Given the description of an element on the screen output the (x, y) to click on. 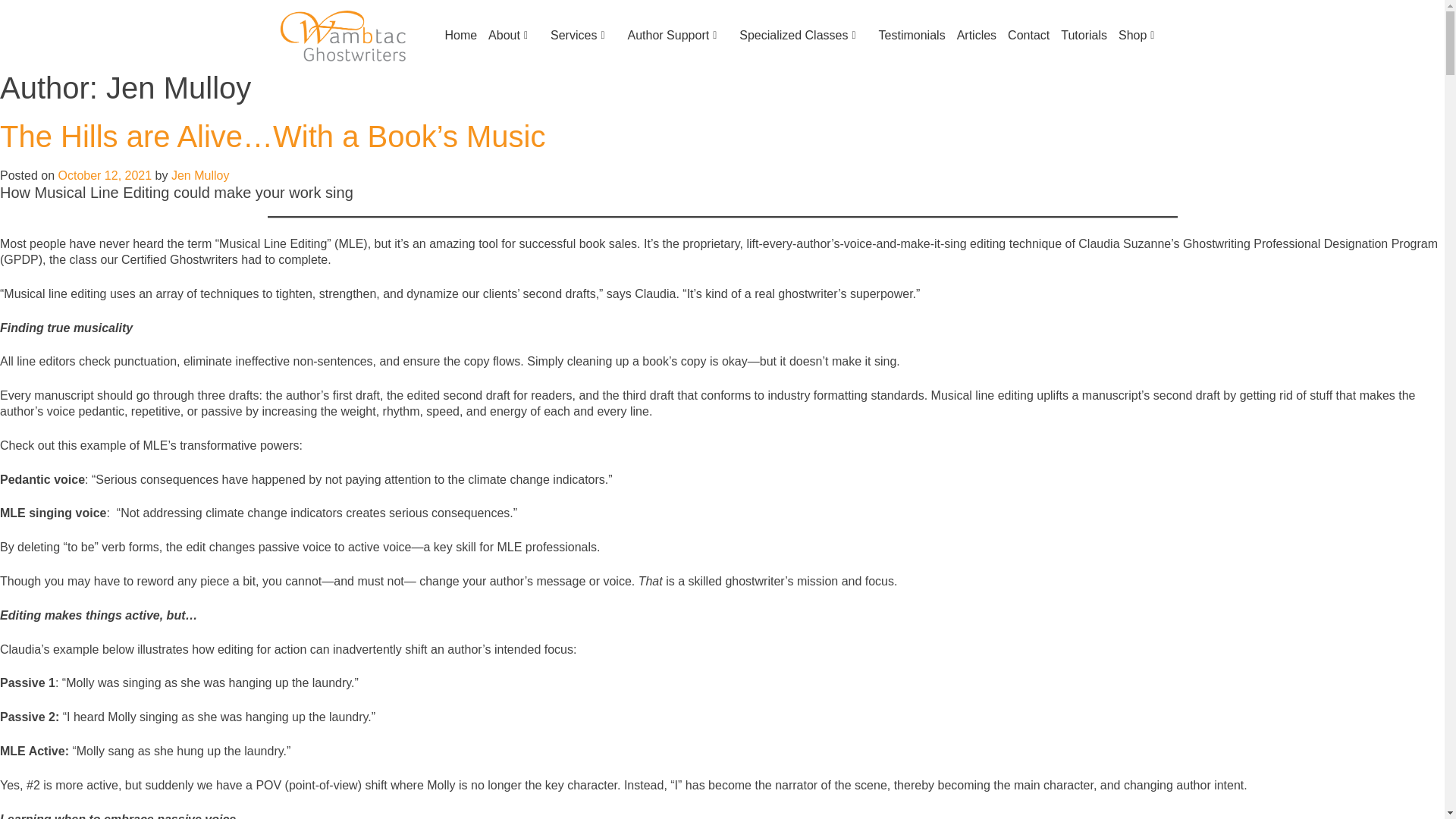
Home (454, 35)
Wambtac Ghostwriters (343, 33)
About (507, 35)
